Given the description of an element on the screen output the (x, y) to click on. 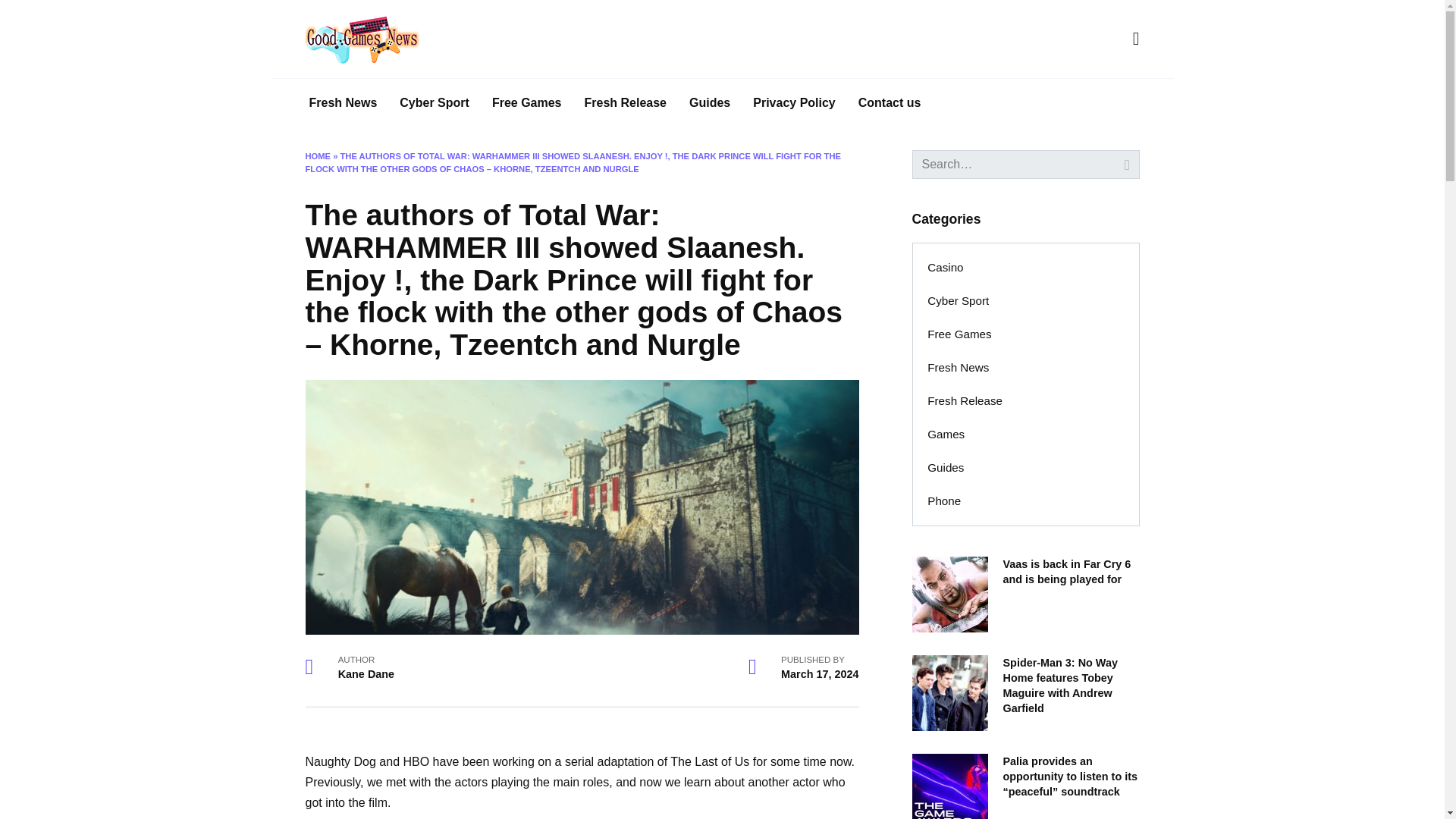
Privacy Policy (794, 102)
Free Games (959, 334)
Guides (709, 102)
Cyber Sport (434, 102)
Casino (945, 267)
Free Games (526, 102)
Fresh Release (625, 102)
HOME (317, 155)
Cyber Sport (958, 300)
Contact us (890, 102)
